Given the description of an element on the screen output the (x, y) to click on. 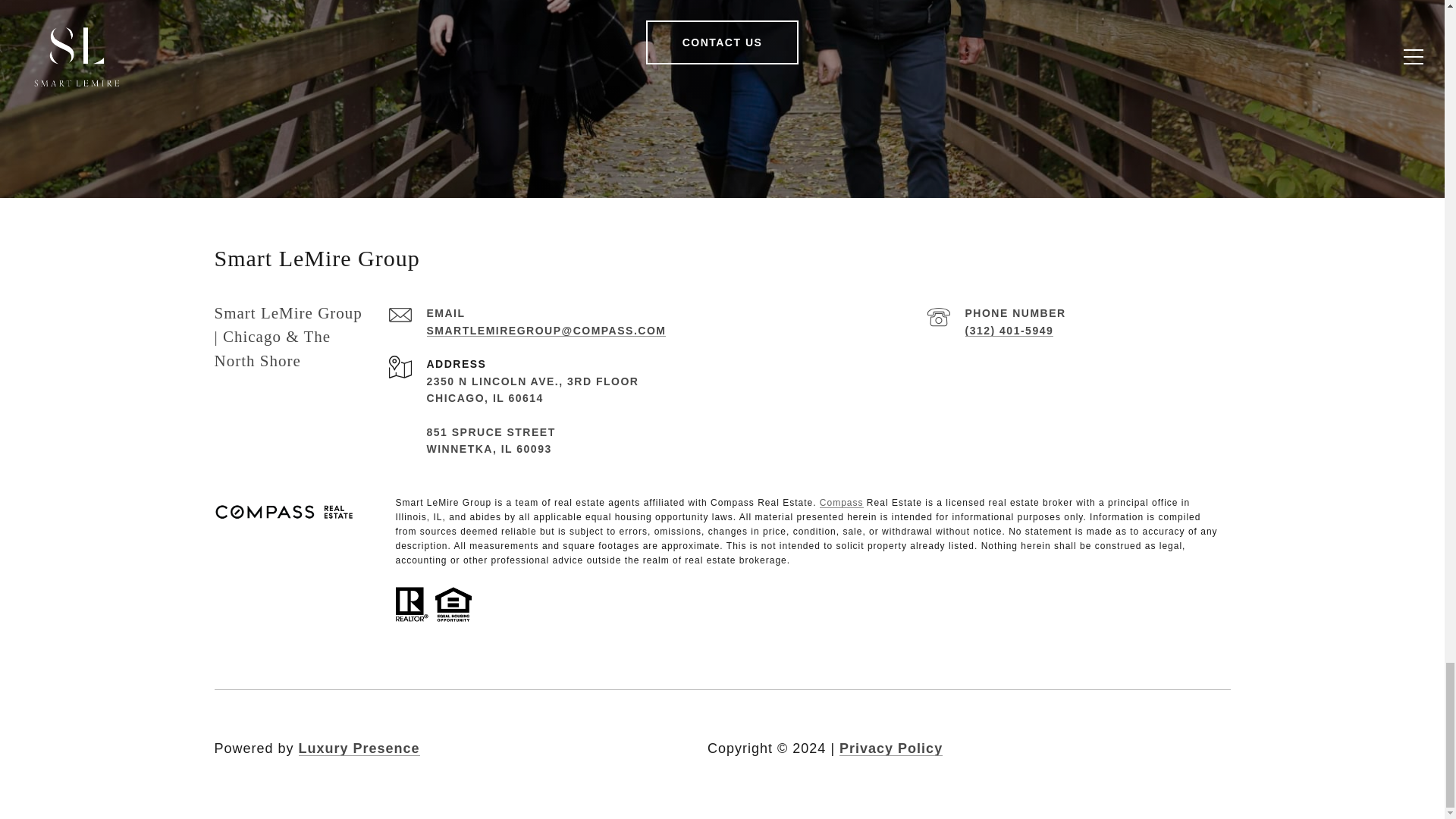
CONTACT US (722, 42)
